Given the description of an element on the screen output the (x, y) to click on. 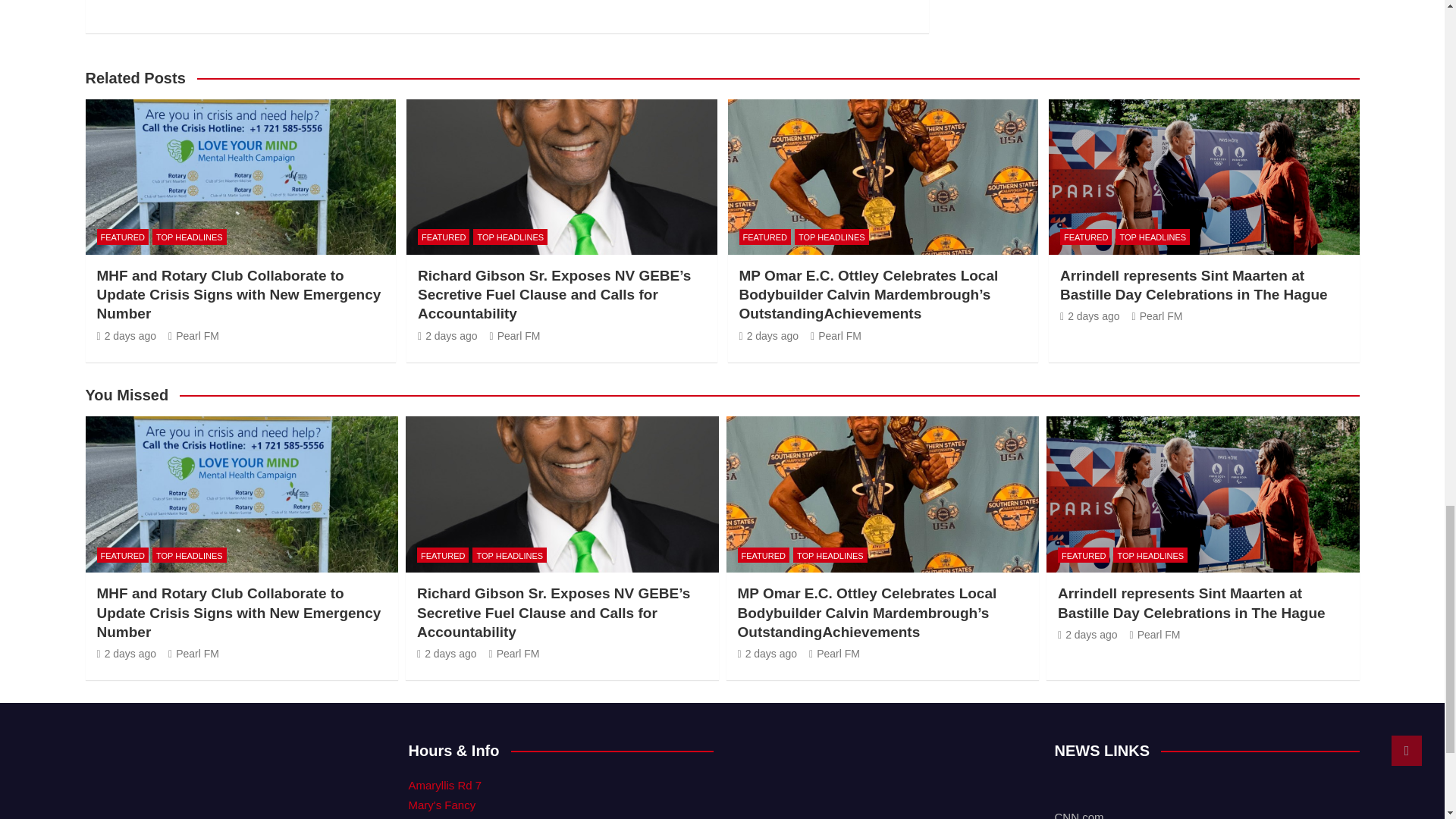
Pearl FM (193, 336)
2 days ago (127, 336)
TOP HEADLINES (189, 236)
FEATURED (442, 236)
FEATURED (122, 236)
CNN (1078, 814)
